Given the description of an element on the screen output the (x, y) to click on. 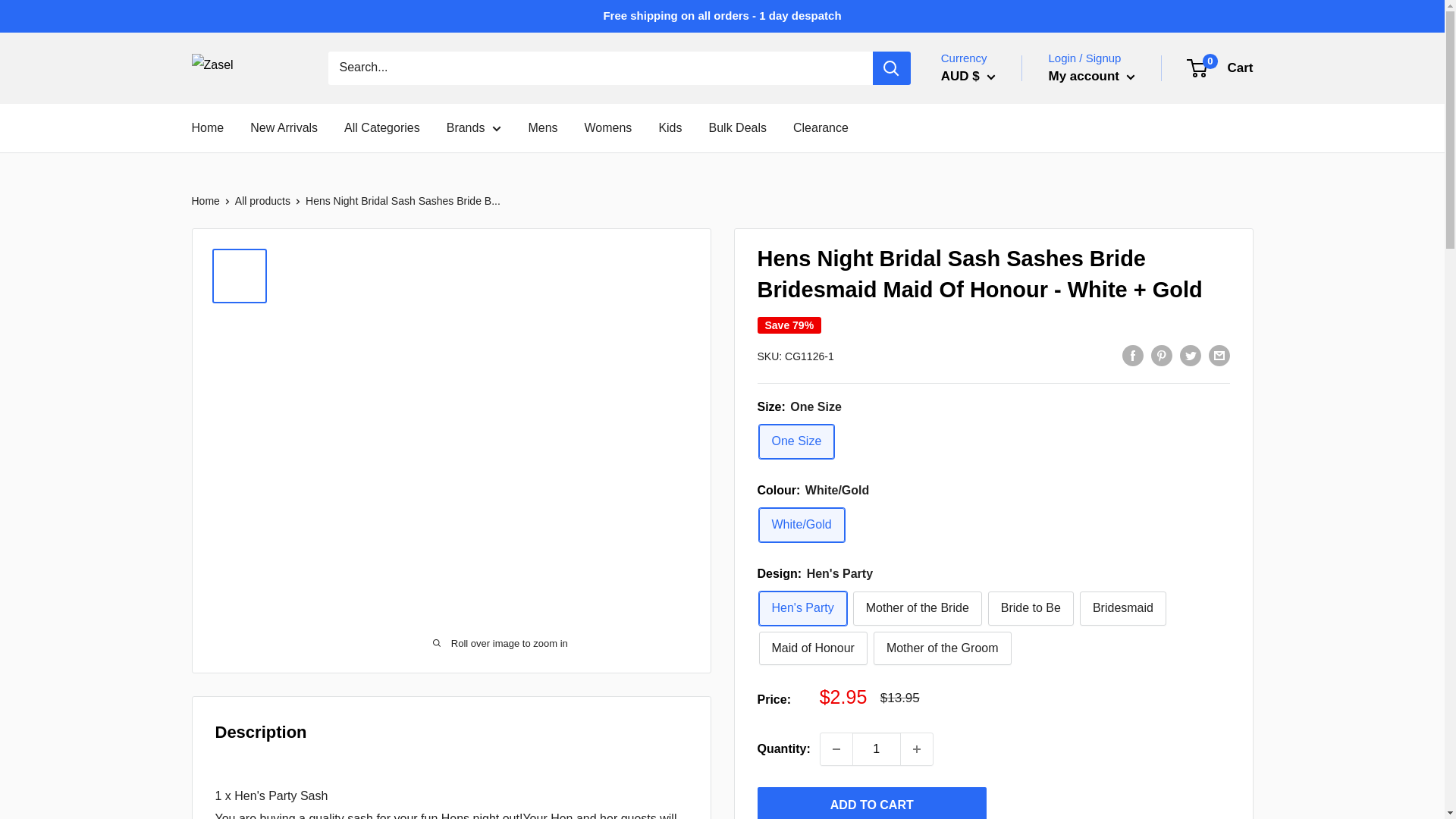
1 (876, 748)
Maid of Honour (812, 647)
Mother of the Groom (942, 647)
Bridesmaid (1123, 608)
Decrease quantity by 1 (836, 748)
Bride to Be (1031, 608)
One Size (796, 441)
Hen's Party (801, 608)
Increase quantity by 1 (917, 748)
Mother of the Bride (917, 608)
